Given the description of an element on the screen output the (x, y) to click on. 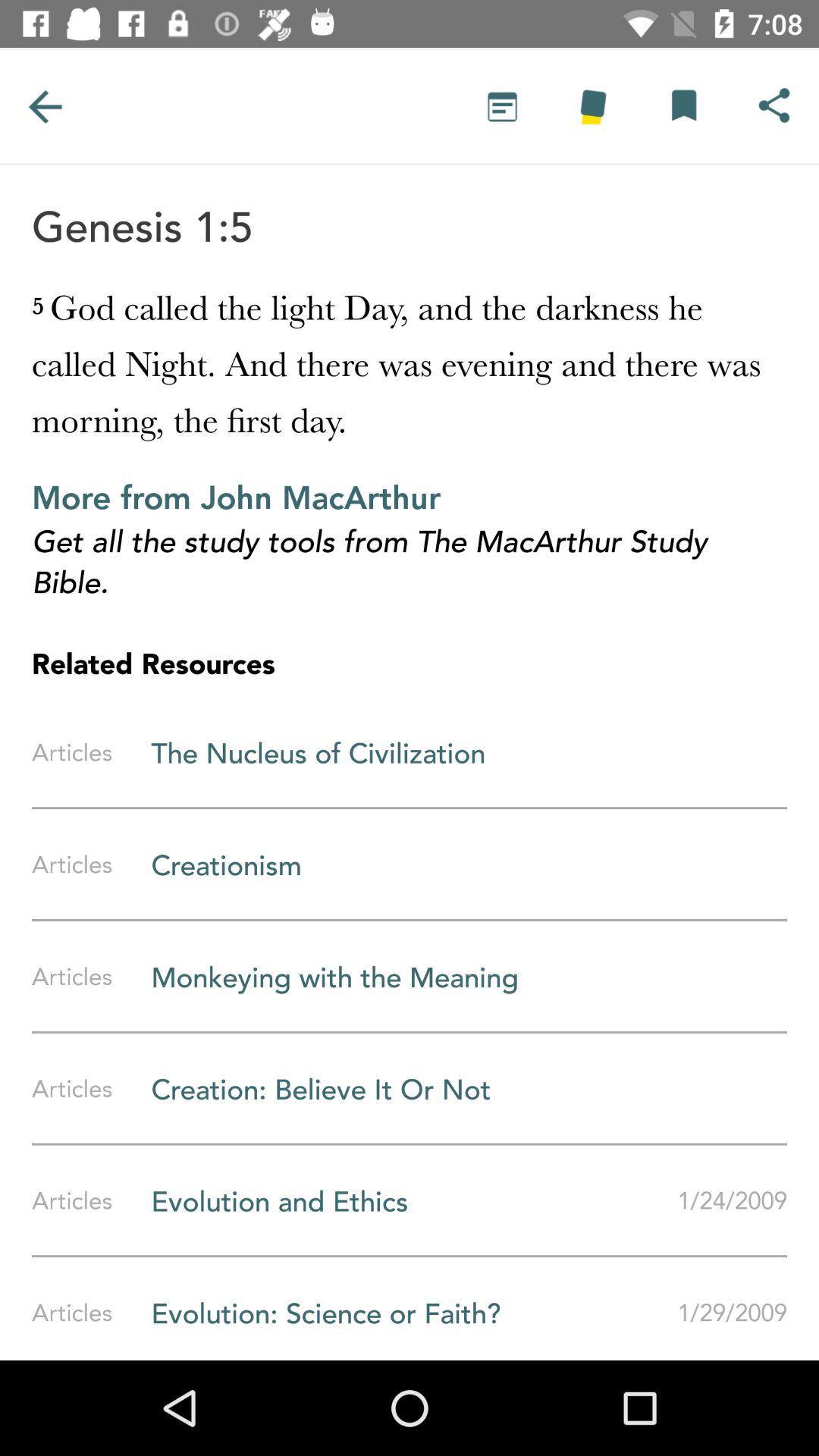
opens menu to share bible verse (773, 106)
